Given the description of an element on the screen output the (x, y) to click on. 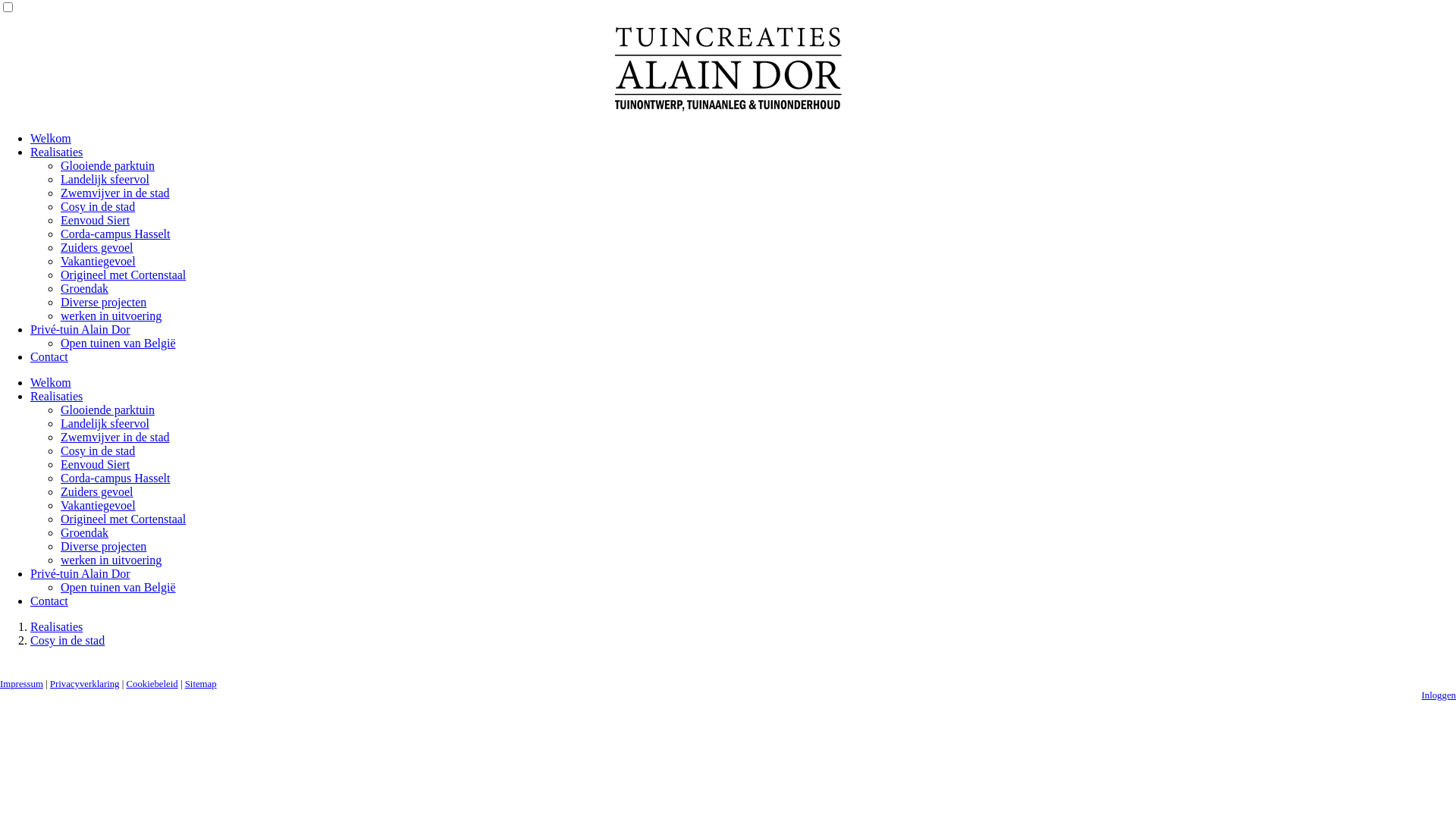
Realisaties Element type: text (56, 395)
Glooiende parktuin Element type: text (107, 165)
Cosy in de stad Element type: text (67, 639)
Zuiders gevoel Element type: text (96, 247)
Origineel met Cortenstaal Element type: text (122, 274)
Landelijk sfeervol Element type: text (104, 178)
Zwemvijver in de stad Element type: text (114, 192)
werken in uitvoering Element type: text (110, 559)
Impressum Element type: text (21, 683)
Welkom Element type: text (50, 137)
Corda-campus Hasselt Element type: text (114, 233)
Eenvoud Siert Element type: text (94, 219)
Sitemap Element type: text (200, 683)
Cosy in de stad Element type: text (97, 450)
Zwemvijver in de stad Element type: text (114, 436)
Corda-campus Hasselt Element type: text (114, 477)
Privacyverklaring Element type: text (84, 683)
Landelijk sfeervol Element type: text (104, 423)
Origineel met Cortenstaal Element type: text (122, 518)
Contact Element type: text (49, 356)
Groendak Element type: text (84, 532)
werken in uitvoering Element type: text (110, 315)
Cookiebeleid Element type: text (151, 683)
Vakantiegevoel Element type: text (97, 260)
Vakantiegevoel Element type: text (97, 504)
Glooiende parktuin Element type: text (107, 409)
Eenvoud Siert Element type: text (94, 464)
Contact Element type: text (49, 600)
Realisaties Element type: text (56, 626)
Cosy in de stad Element type: text (97, 206)
Diverse projecten Element type: text (103, 301)
Zuiders gevoel Element type: text (96, 491)
Diverse projecten Element type: text (103, 545)
Groendak Element type: text (84, 288)
Welkom Element type: text (50, 382)
Realisaties Element type: text (56, 151)
